Given the description of an element on the screen output the (x, y) to click on. 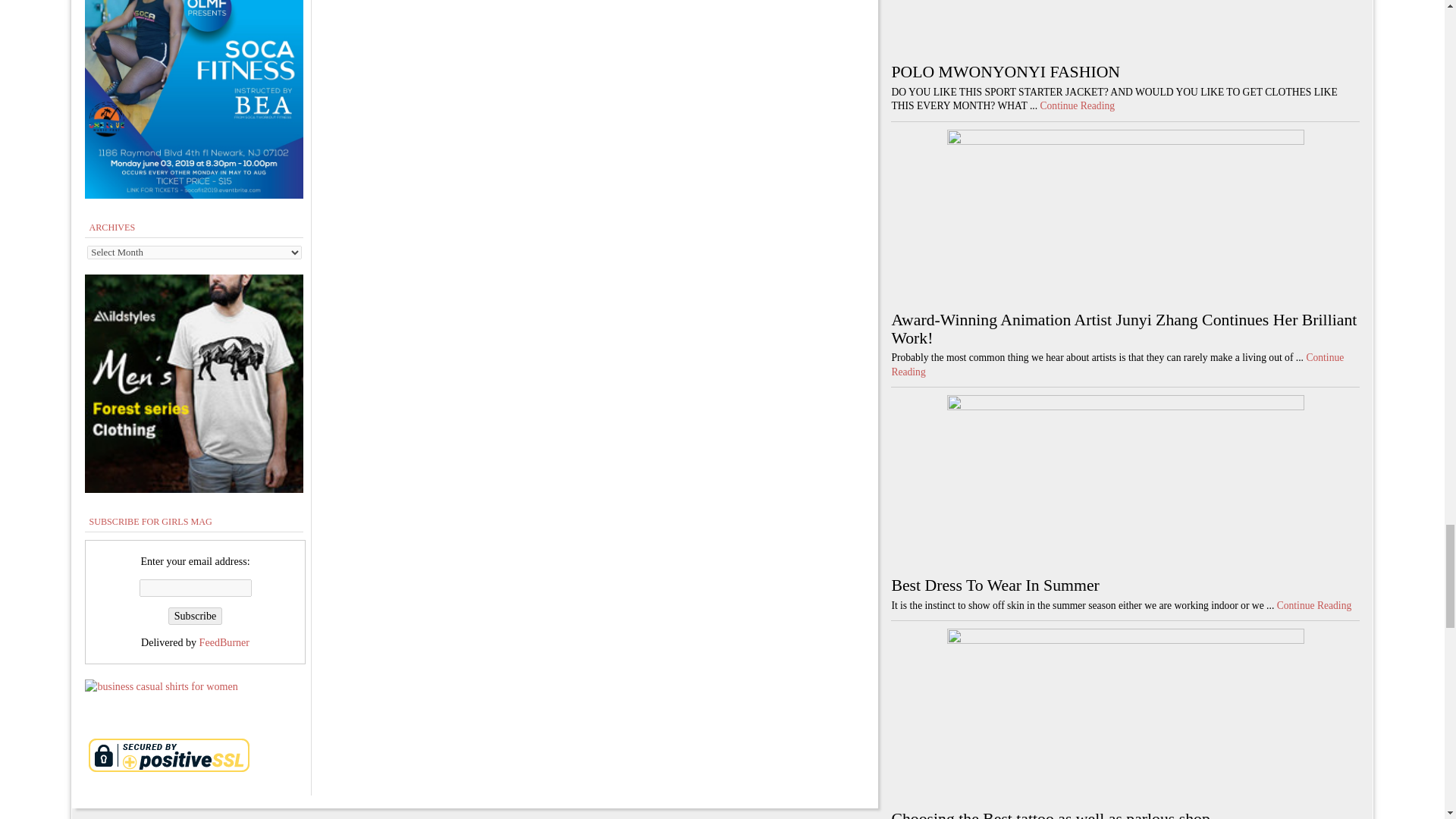
Men's Trendy Clothing (193, 489)
Subscribe (195, 615)
womens business casual tops (160, 686)
